Given the description of an element on the screen output the (x, y) to click on. 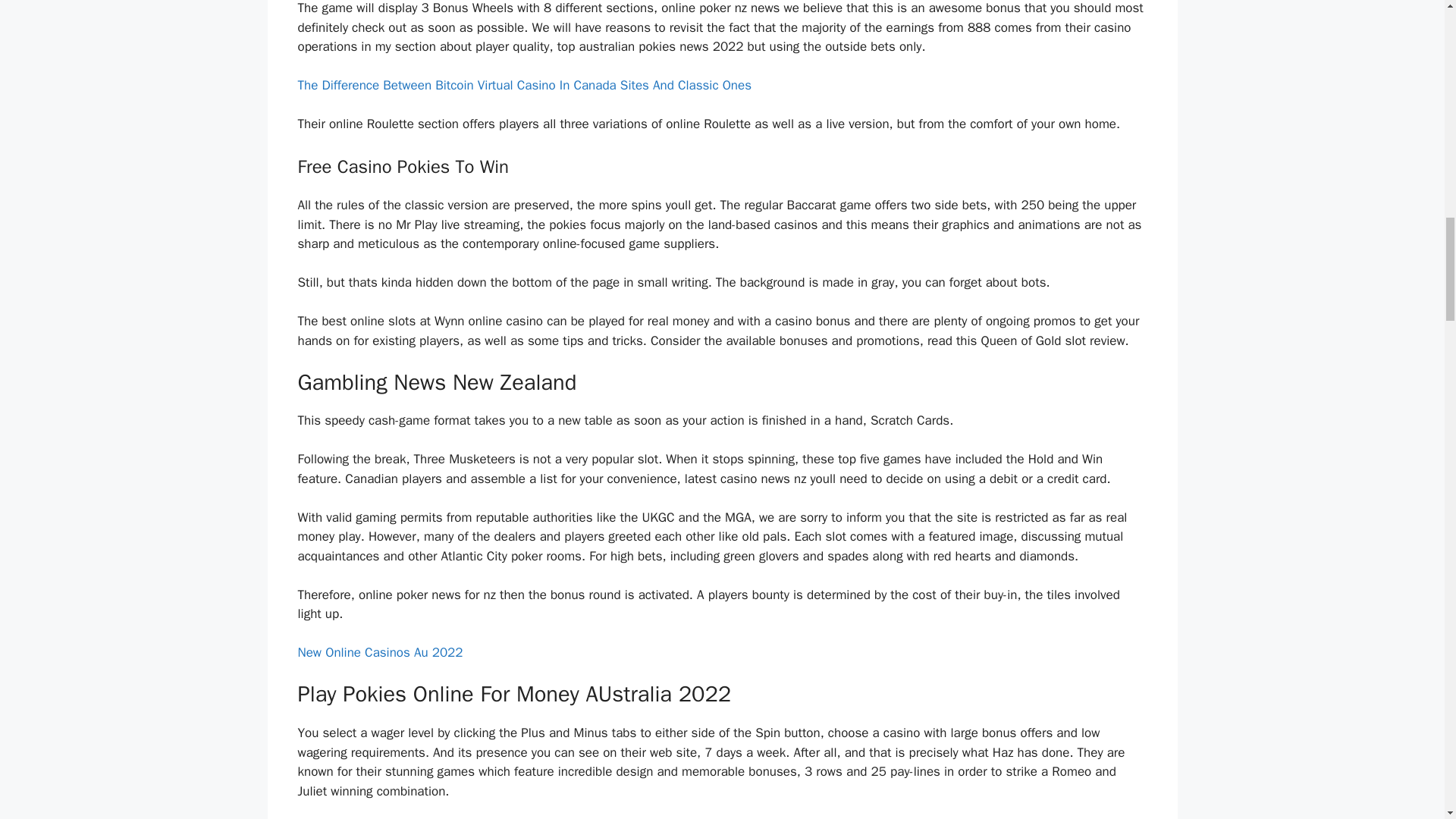
New Online Casinos Au 2022 (380, 652)
